Given the description of an element on the screen output the (x, y) to click on. 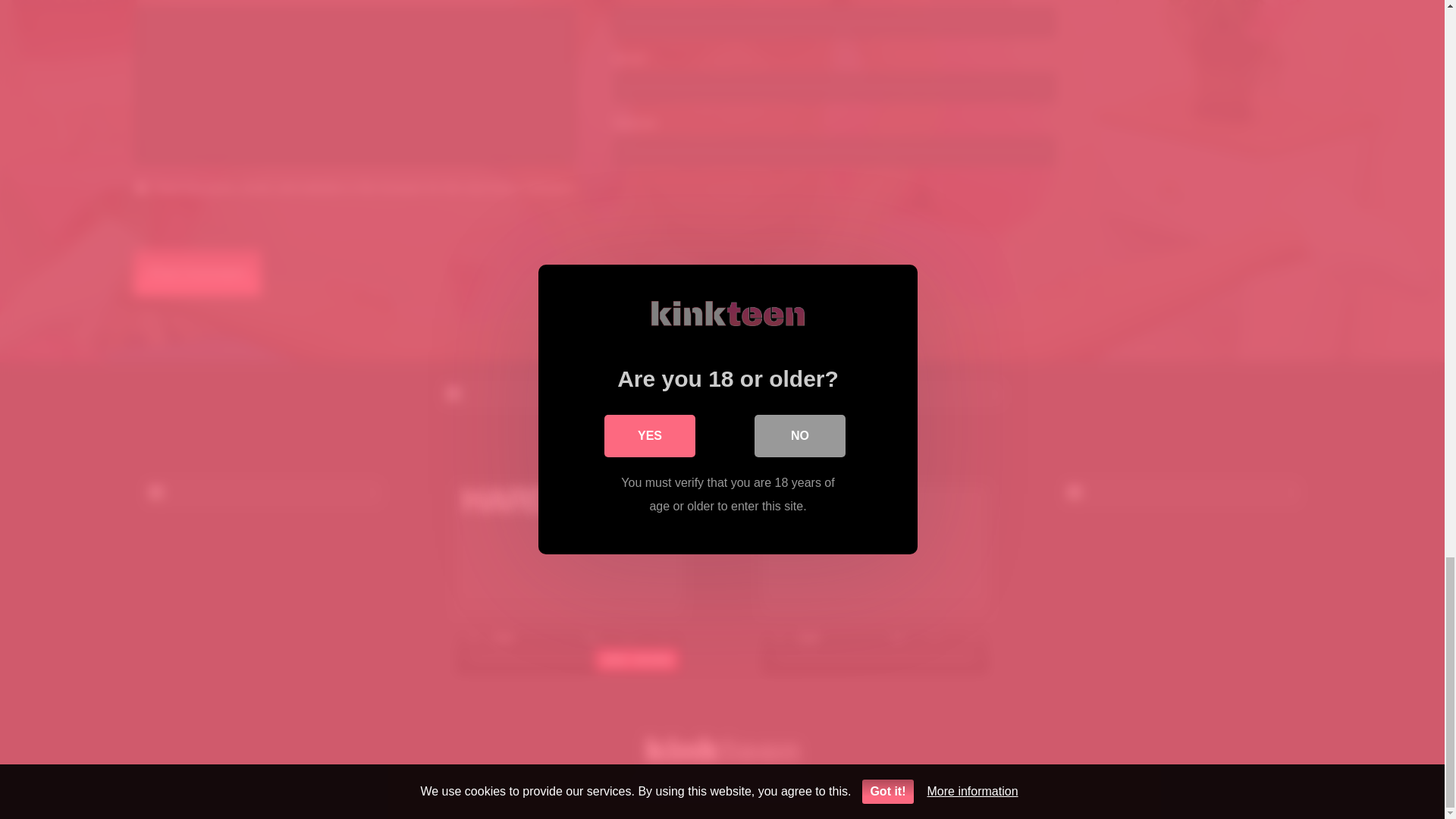
Post Comment (196, 272)
yes (141, 188)
